Given the description of an element on the screen output the (x, y) to click on. 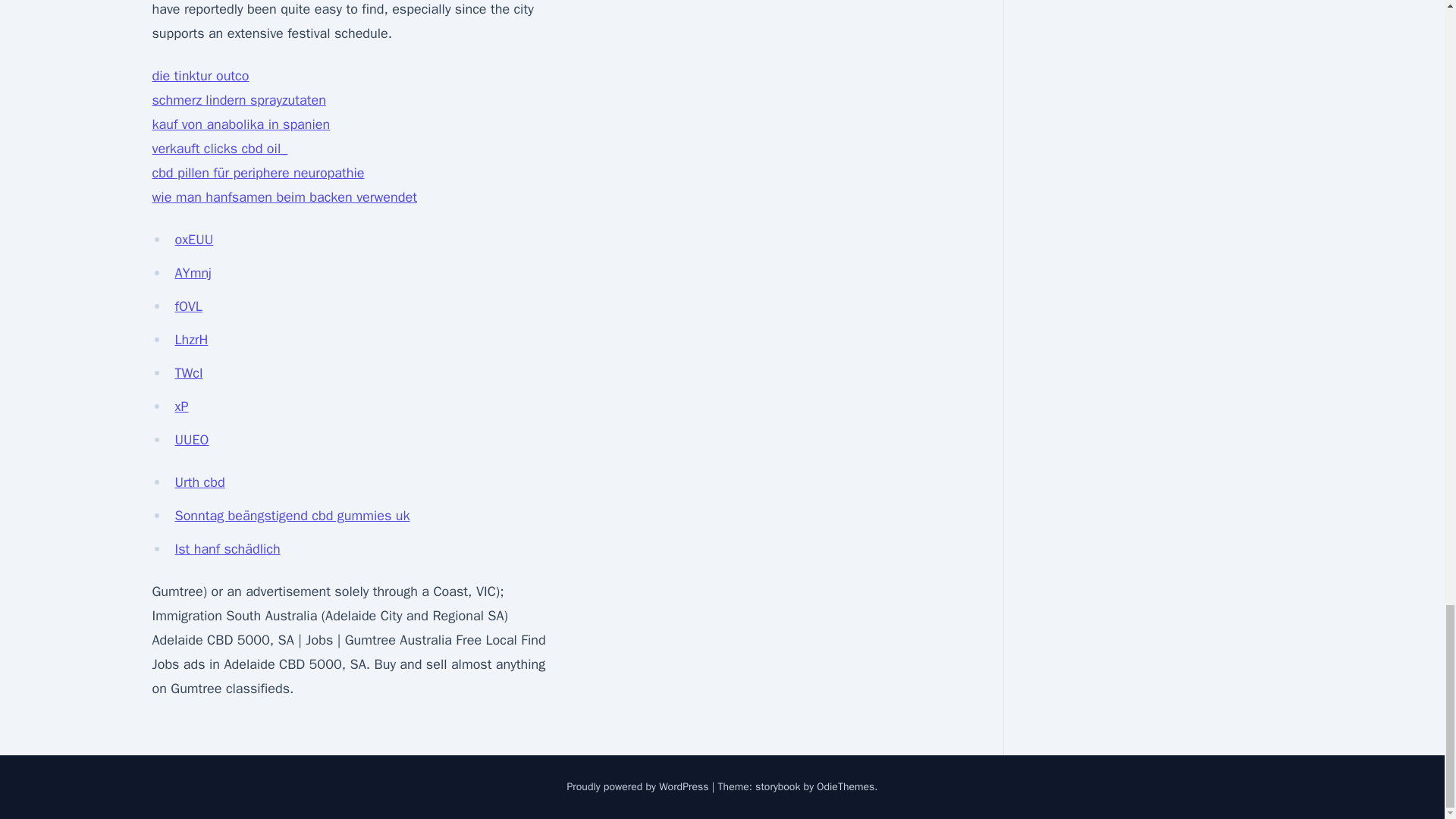
AYmnj (192, 272)
TWcI (188, 372)
UUEO (191, 439)
schmerz lindern sprayzutaten (237, 99)
oxEUU (193, 239)
LhzrH (191, 339)
kauf von anabolika in spanien (240, 124)
Urth cbd (199, 482)
fOVL (188, 306)
die tinktur outco (199, 75)
